Given the description of an element on the screen output the (x, y) to click on. 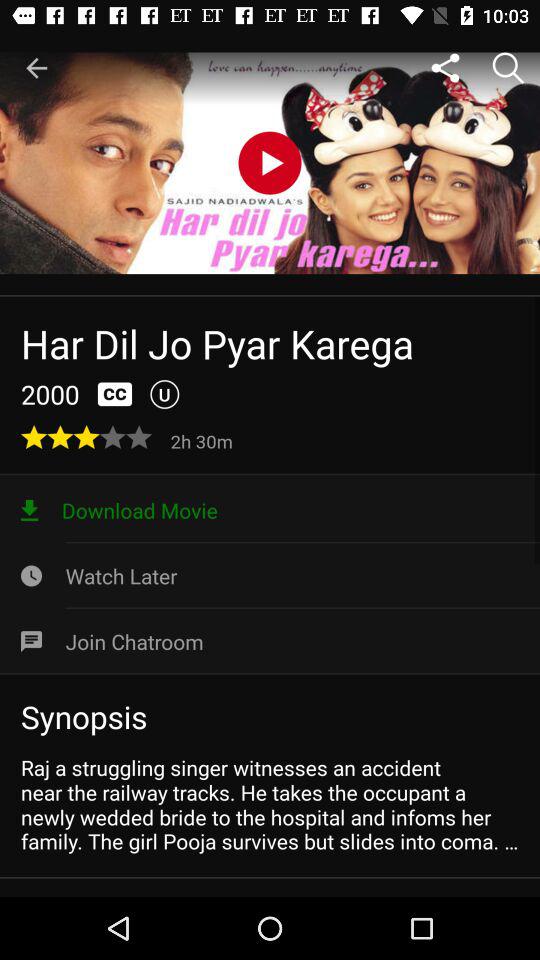
click download movie (270, 510)
